Given the description of an element on the screen output the (x, y) to click on. 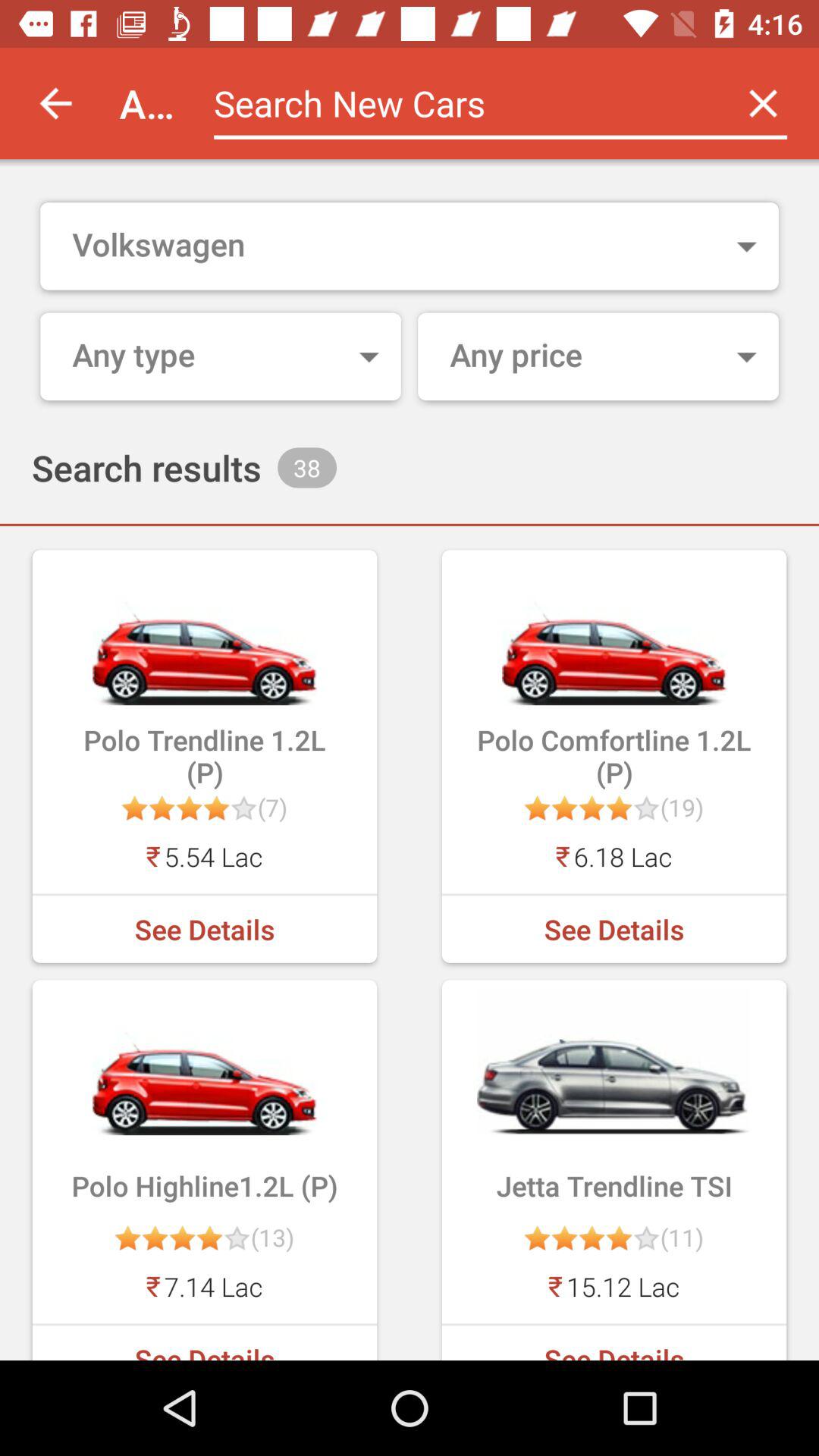
enter search phrase (460, 103)
